Given the description of an element on the screen output the (x, y) to click on. 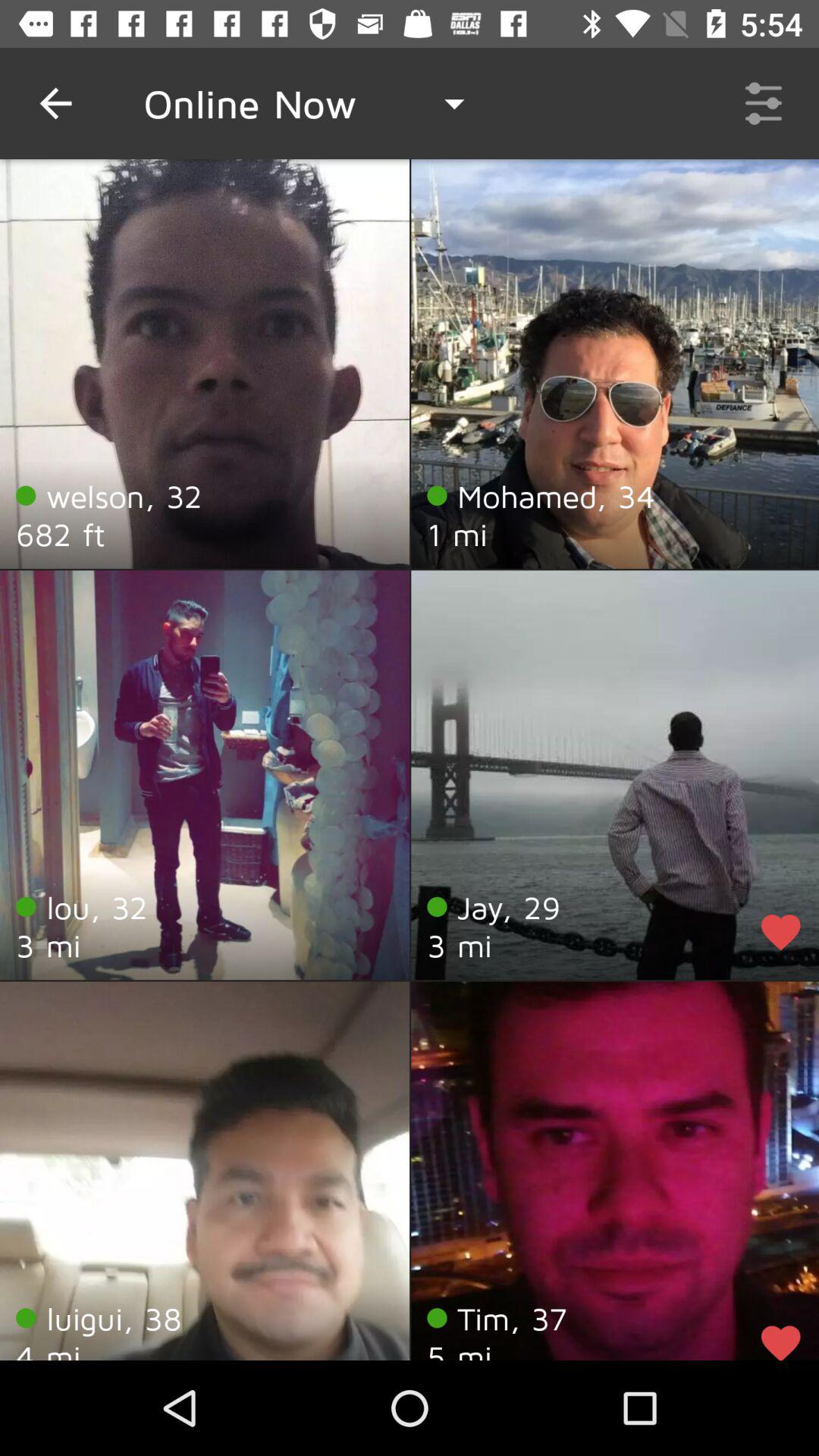
open the item to the left of the online now (55, 103)
